Given the description of an element on the screen output the (x, y) to click on. 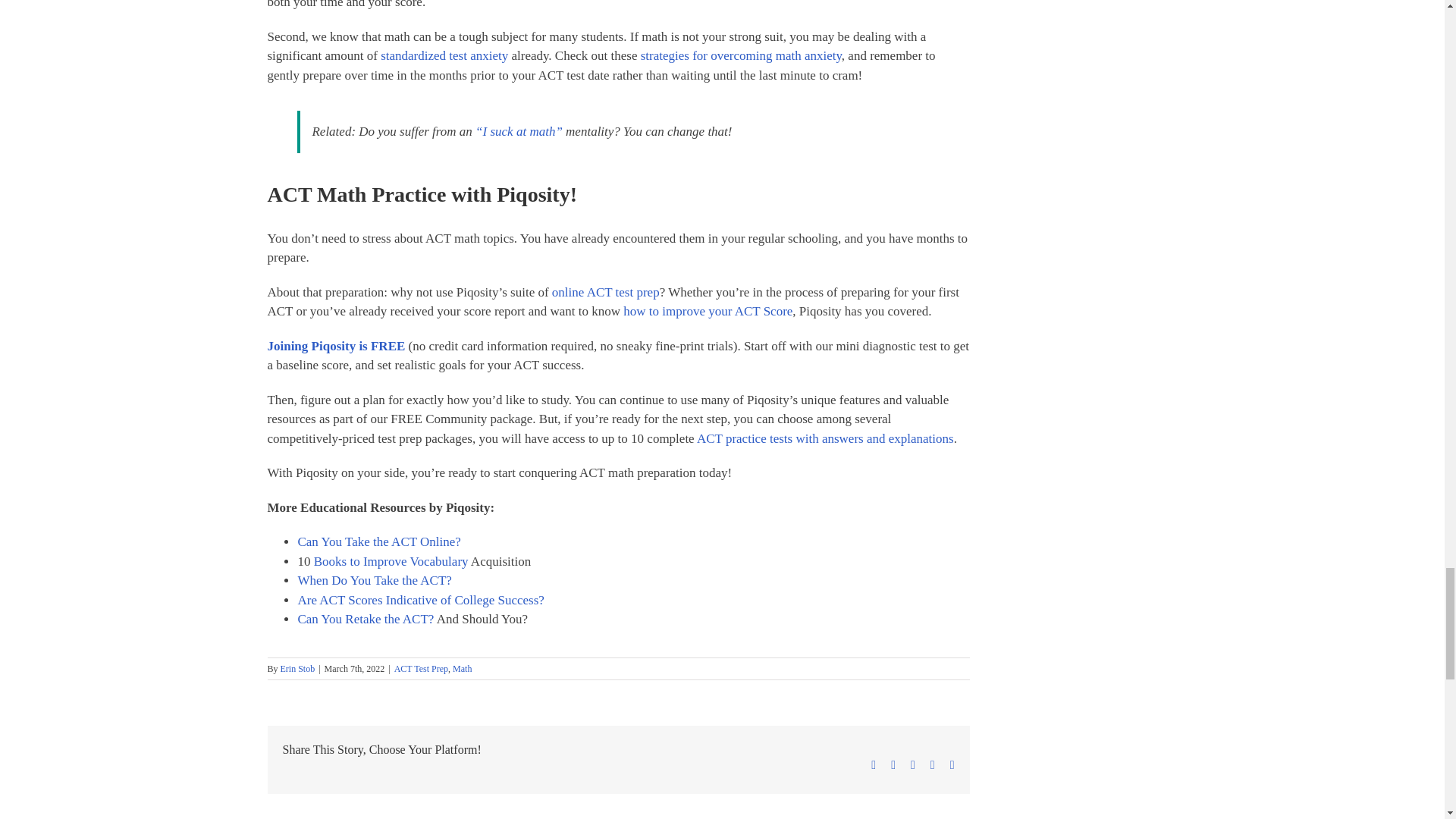
Posts by Erin Stob (298, 668)
